Given the description of an element on the screen output the (x, y) to click on. 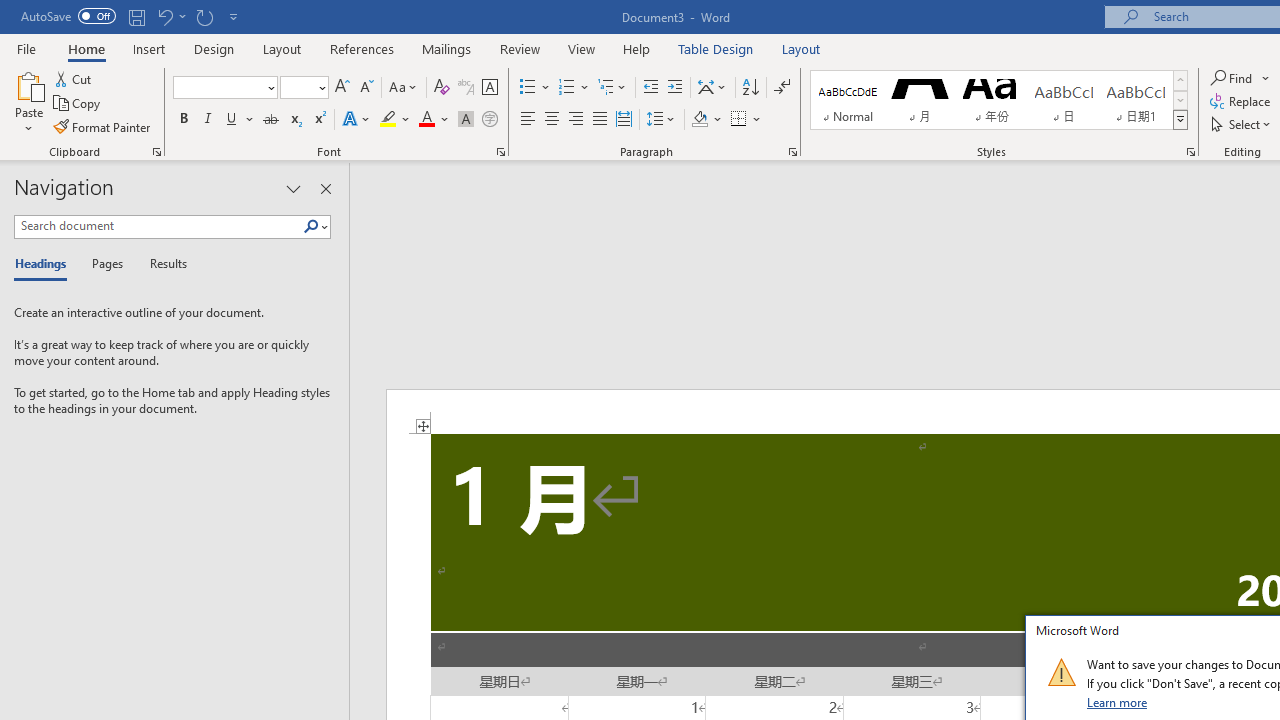
Styles... (1190, 151)
Replace... (1242, 101)
Distributed (623, 119)
Undo Text Fill Effect (170, 15)
Align Right (575, 119)
